Given the description of an element on the screen output the (x, y) to click on. 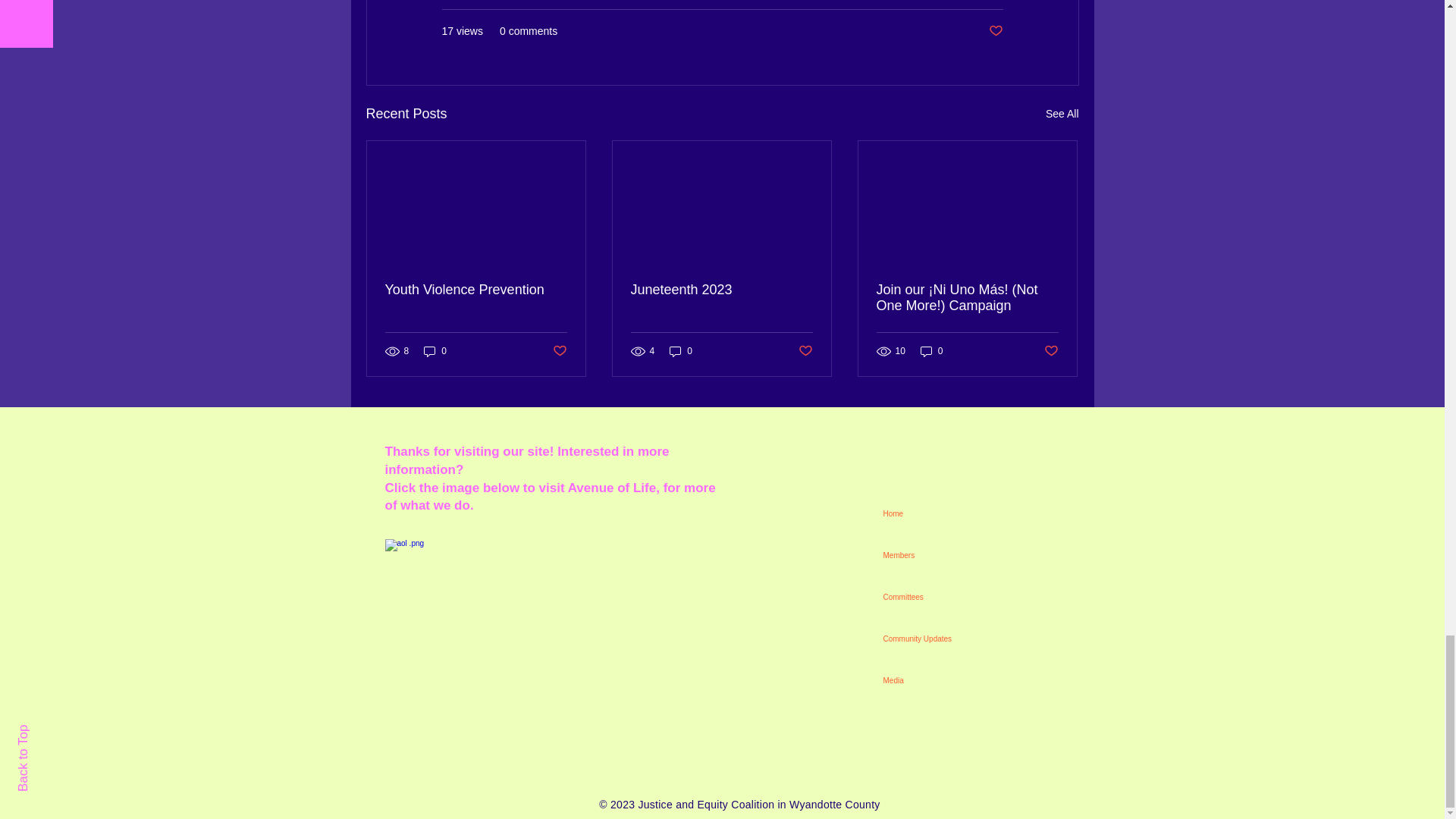
Post not marked as liked (804, 350)
Youth Violence Prevention (476, 289)
0 (435, 350)
Post not marked as liked (995, 31)
0 (681, 350)
See All (1061, 114)
Post not marked as liked (558, 350)
Juneteenth 2023 (721, 289)
